Given the description of an element on the screen output the (x, y) to click on. 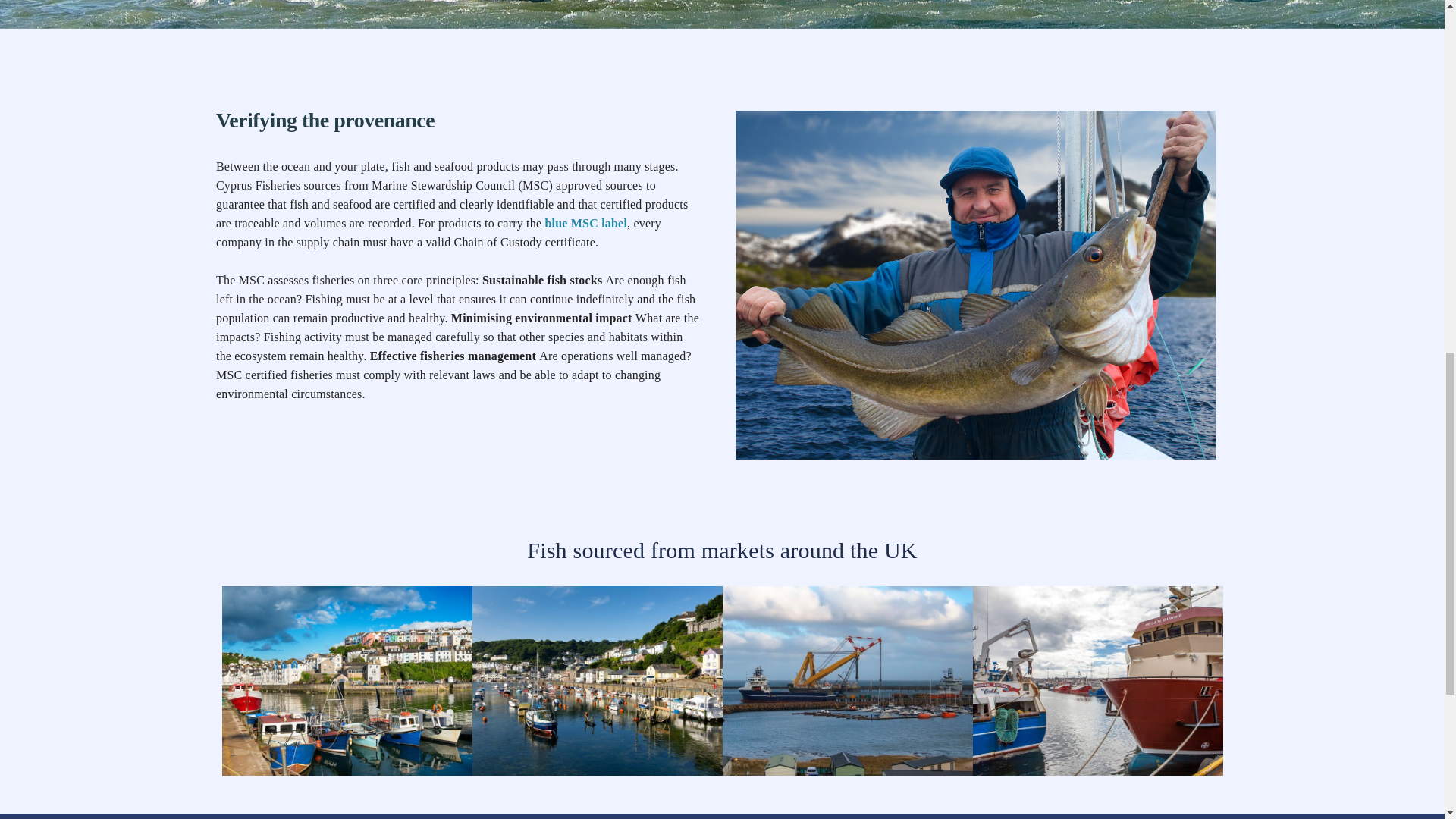
blue MSC label (585, 223)
